Given the description of an element on the screen output the (x, y) to click on. 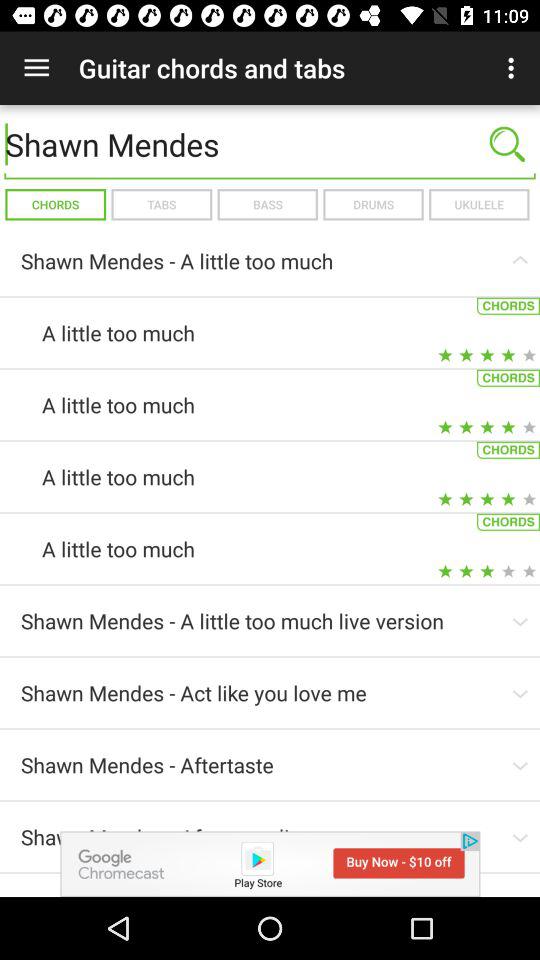
press the item to the left of ukulele icon (373, 204)
